Given the description of an element on the screen output the (x, y) to click on. 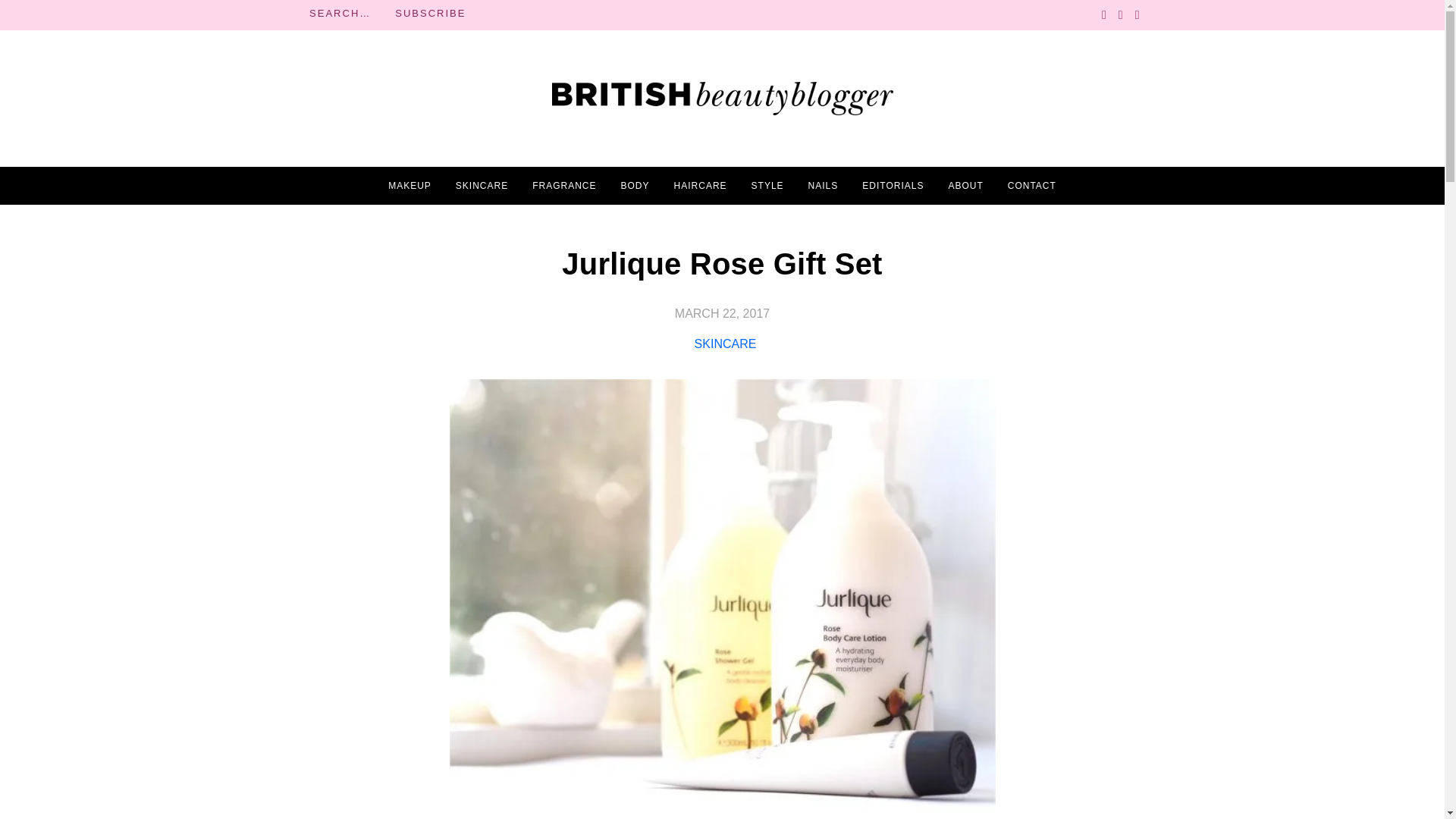
CONTACT (1032, 185)
MAKEUP (409, 185)
SUBSCRIBE (429, 13)
ABOUT (964, 185)
FRAGRANCE (563, 185)
EDITORIALS (892, 185)
HAIRCARE (700, 185)
SKINCARE (725, 343)
SKINCARE (481, 185)
